Given the description of an element on the screen output the (x, y) to click on. 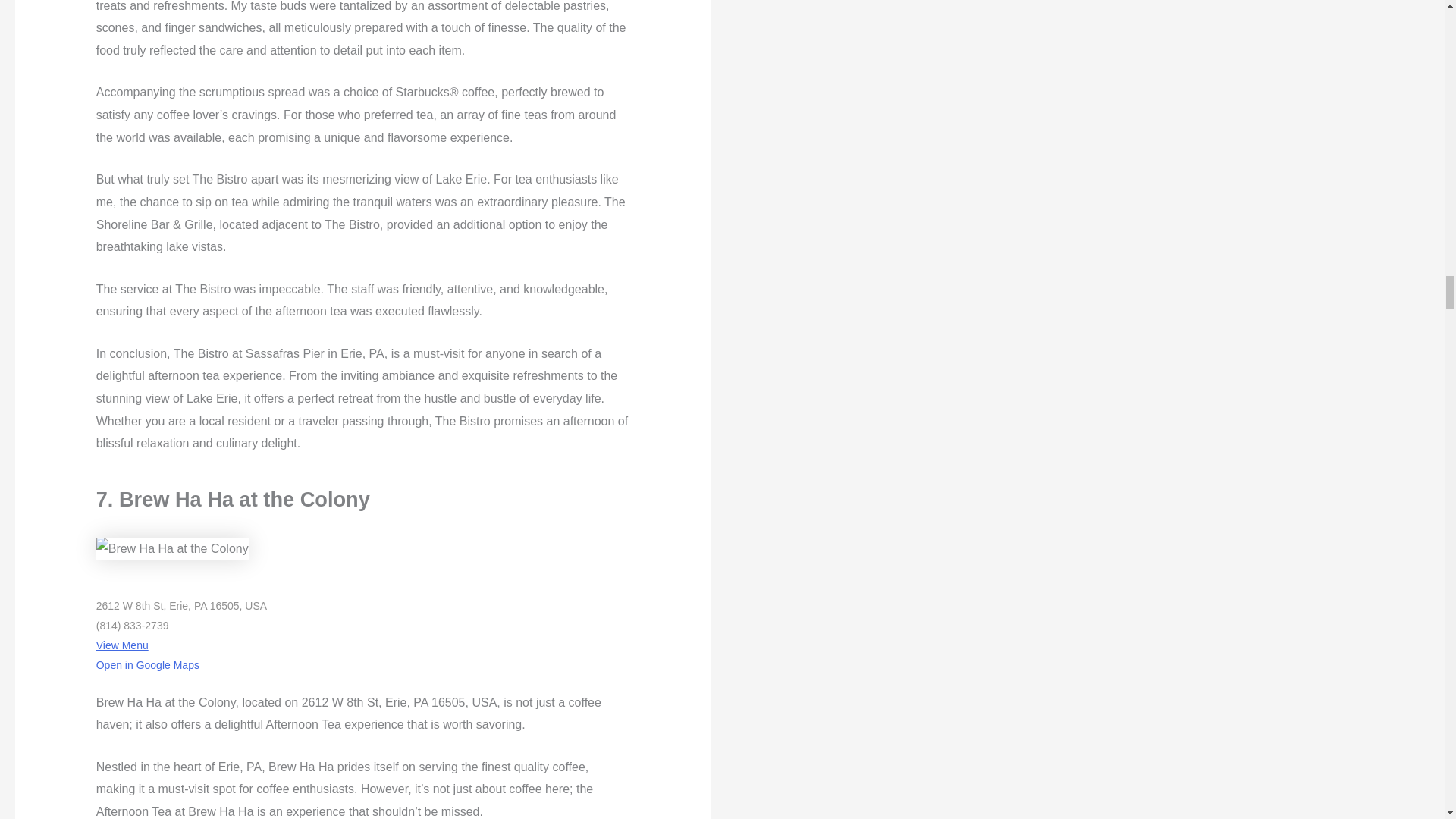
View Menu (122, 645)
